Given the description of an element on the screen output the (x, y) to click on. 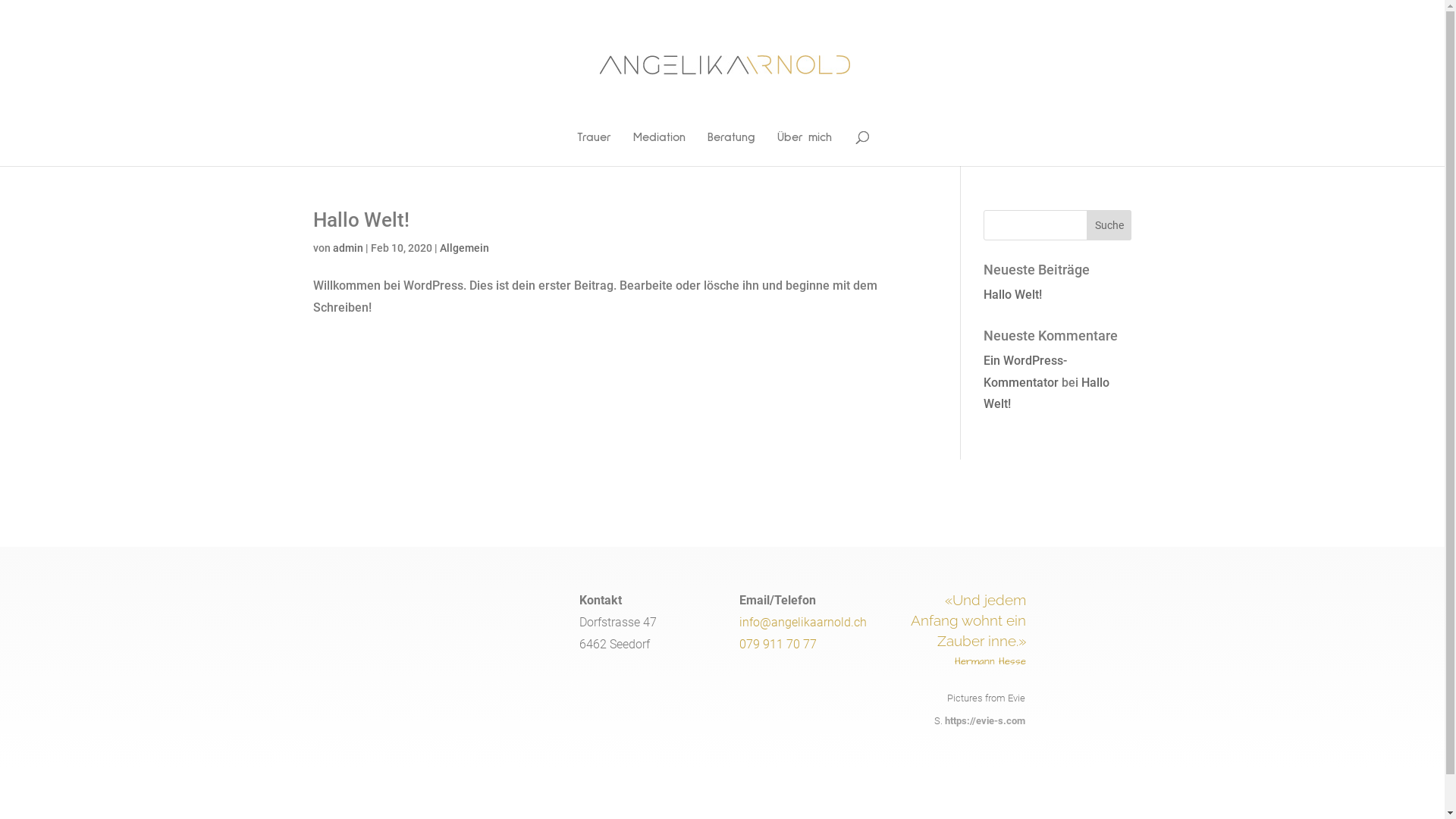
Beratung Element type: text (731, 148)
Allgemein Element type: text (464, 247)
Trauer Element type: text (594, 148)
Hallo Welt! Element type: text (360, 219)
Hallo Welt! Element type: text (1012, 294)
info@angelikaarnold.ch Element type: text (802, 622)
Suche Element type: text (1109, 225)
Hallo Welt! Element type: text (1046, 393)
admin Element type: text (347, 247)
Mediation Element type: text (659, 148)
 https://evie-s.com Element type: text (983, 720)
Ein WordPress-Kommentator Element type: text (1024, 371)
